Given the description of an element on the screen output the (x, y) to click on. 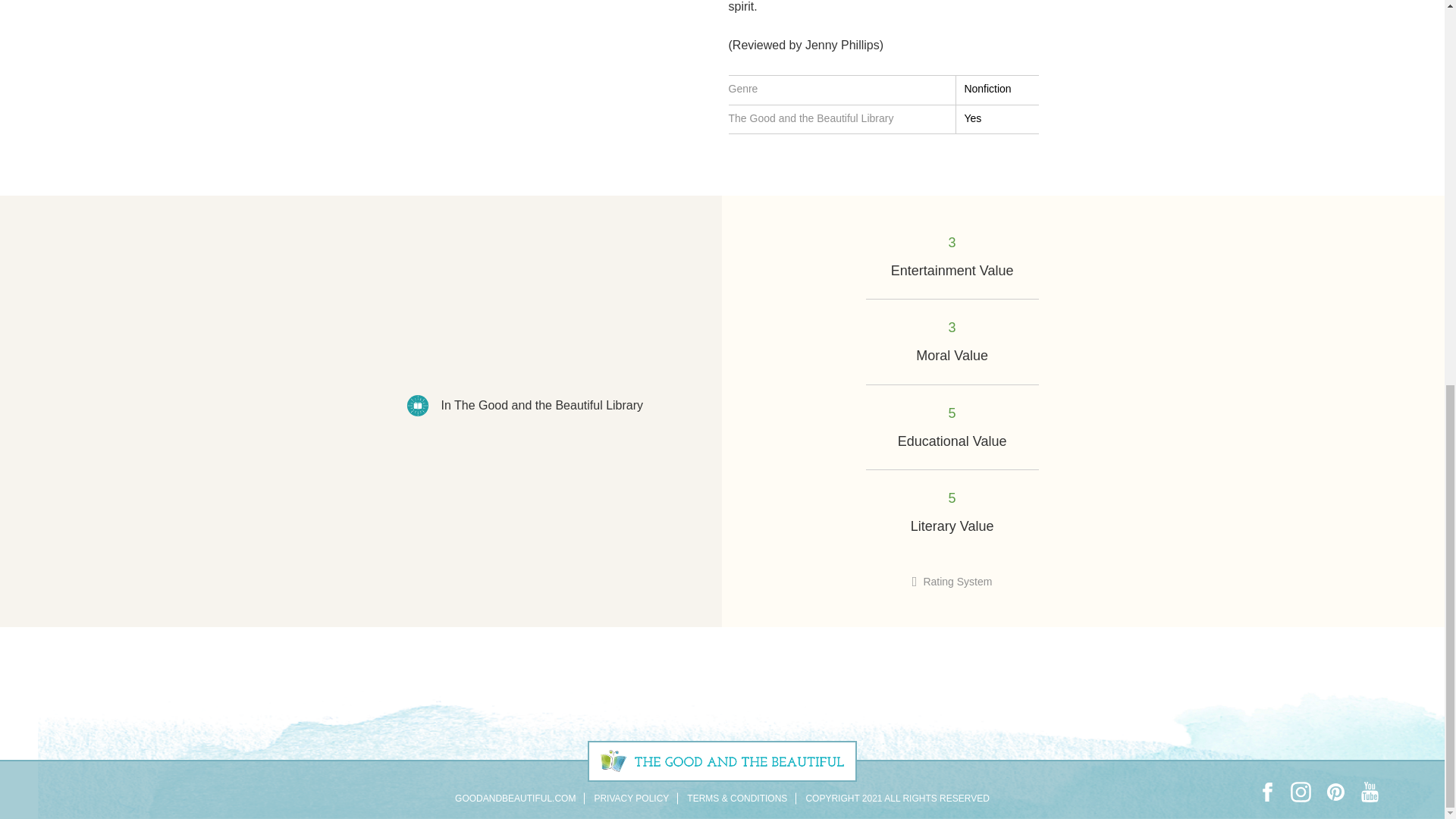
pinterest (1334, 792)
instagram (1300, 792)
PRIVACY POLICY (631, 798)
facebook (1266, 791)
GOODANDBEAUTIFUL.COM (514, 798)
youtube (1369, 792)
